Given the description of an element on the screen output the (x, y) to click on. 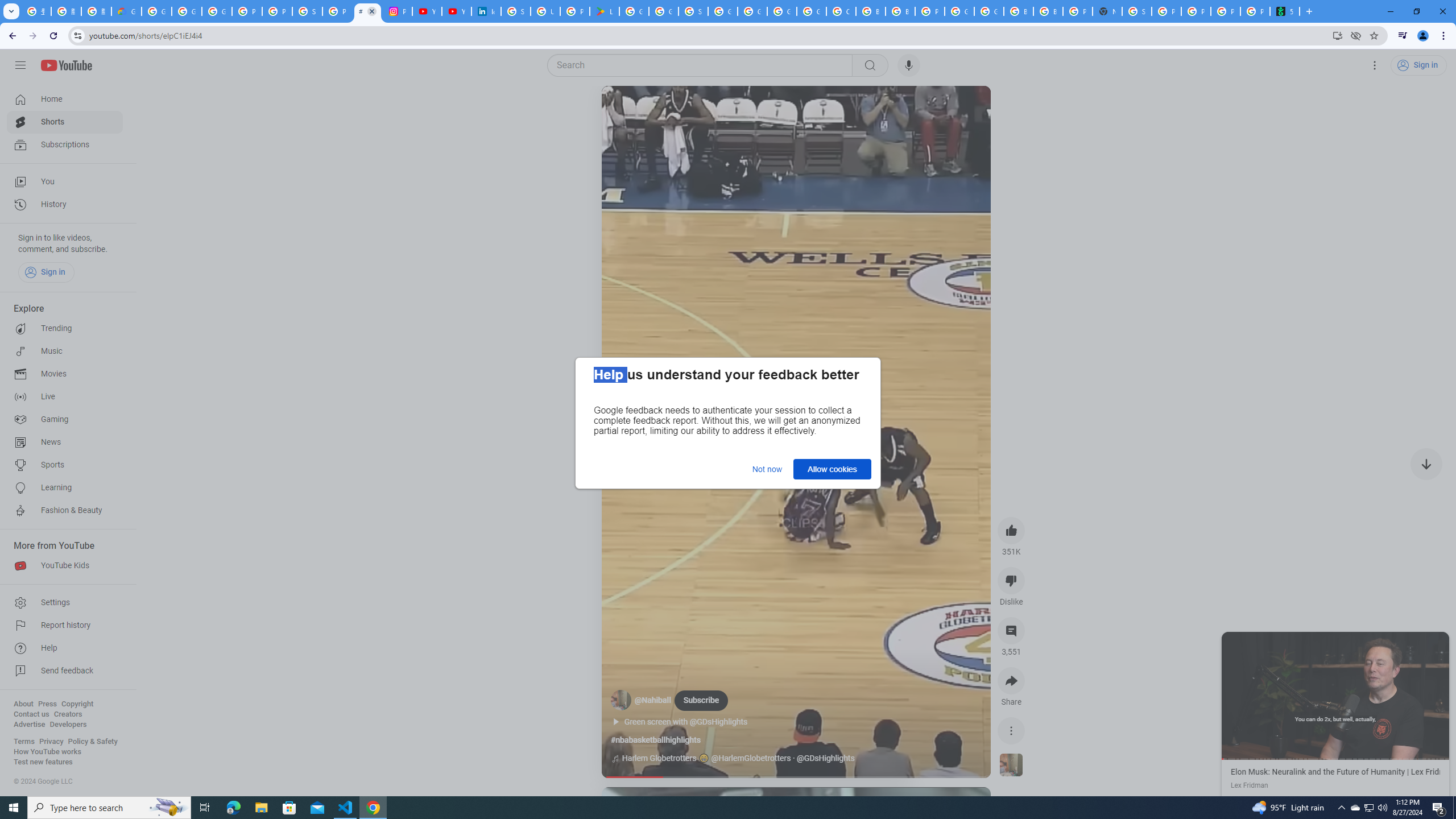
Install YouTube (1336, 35)
Google Workspace - Specific Terms (663, 11)
Live (64, 396)
Next video (1426, 463)
Mute (657, 108)
Sports (64, 464)
Music (64, 350)
Policy & Safety (91, 741)
